Given the description of an element on the screen output the (x, y) to click on. 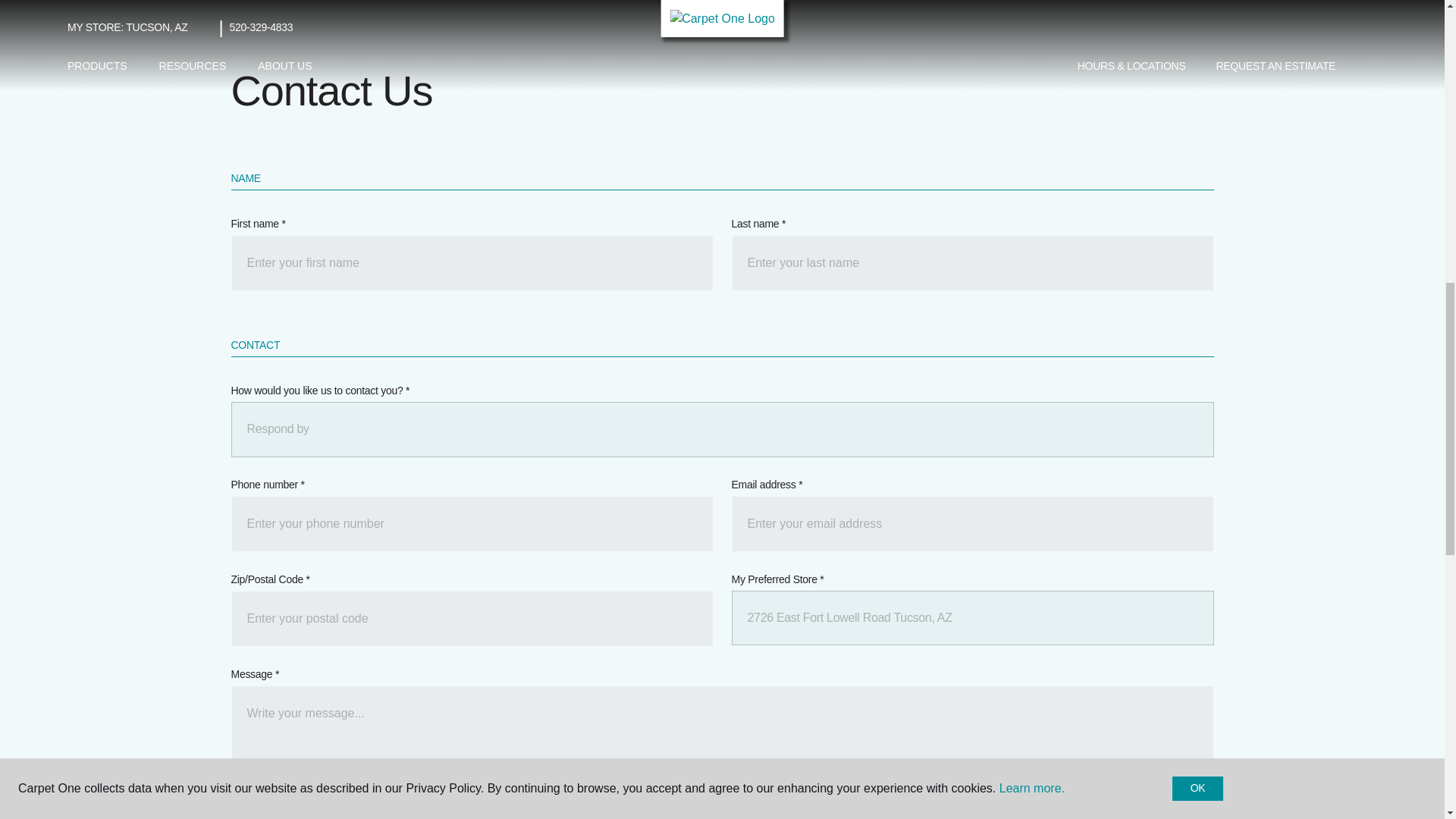
PostalCode (471, 618)
MyMessage (721, 731)
CleanHomePhone (471, 524)
FirstName (471, 263)
EmailAddress (971, 524)
LastName (971, 263)
